Given the description of an element on the screen output the (x, y) to click on. 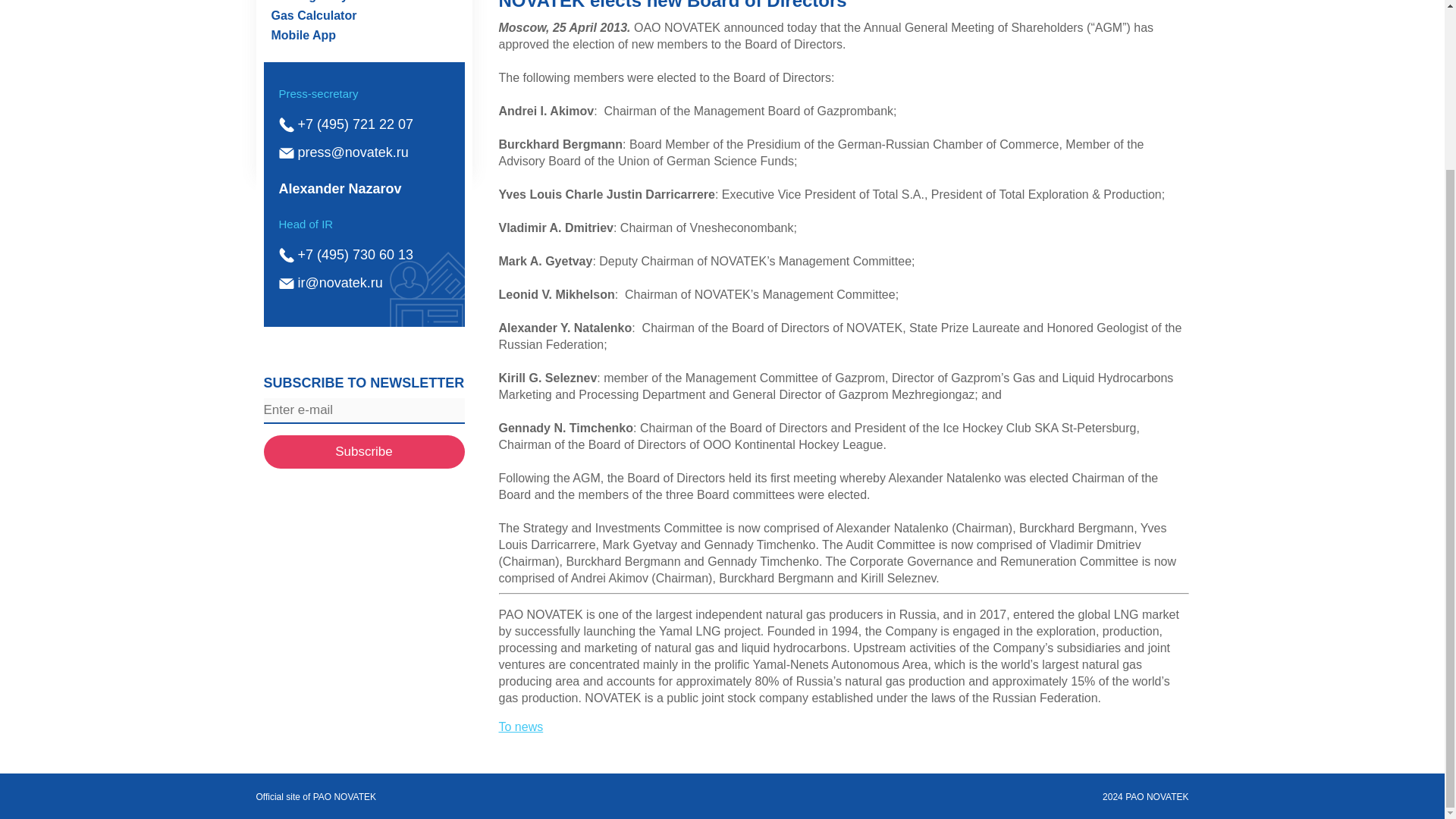
Subscribe (363, 451)
